Given the description of an element on the screen output the (x, y) to click on. 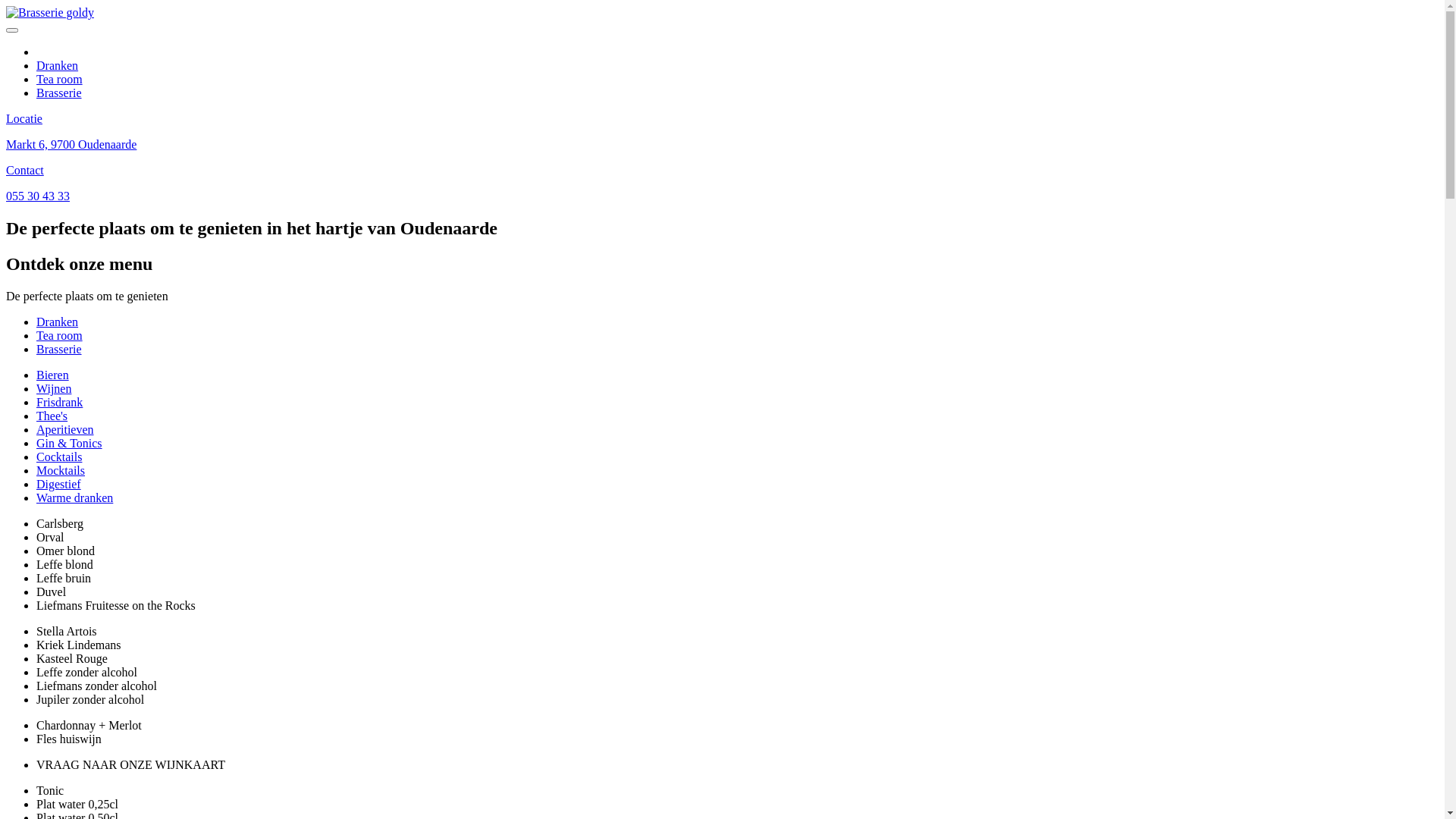
Ontdek onze kaart: Element type: text (82, 51)
Aperitieven Element type: text (65, 429)
Digestief Element type: text (58, 483)
Tea room Element type: text (59, 78)
Frisdrank Element type: text (59, 401)
Mocktails Element type: text (60, 470)
Contact
055 30 43 33 Element type: text (722, 183)
Bieren Element type: text (52, 374)
Brasserie Element type: text (58, 92)
Wijnen Element type: text (53, 388)
Warme dranken Element type: text (74, 497)
Tea room Element type: text (59, 335)
Gin & Tonics Element type: text (69, 442)
Dranken Element type: text (57, 321)
Brasserie Element type: text (58, 348)
Thee's Element type: text (51, 415)
Dranken Element type: text (57, 65)
Cocktails Element type: text (58, 456)
Locatie
Markt 6, 9700 Oudenaarde Element type: text (722, 144)
